Given the description of an element on the screen output the (x, y) to click on. 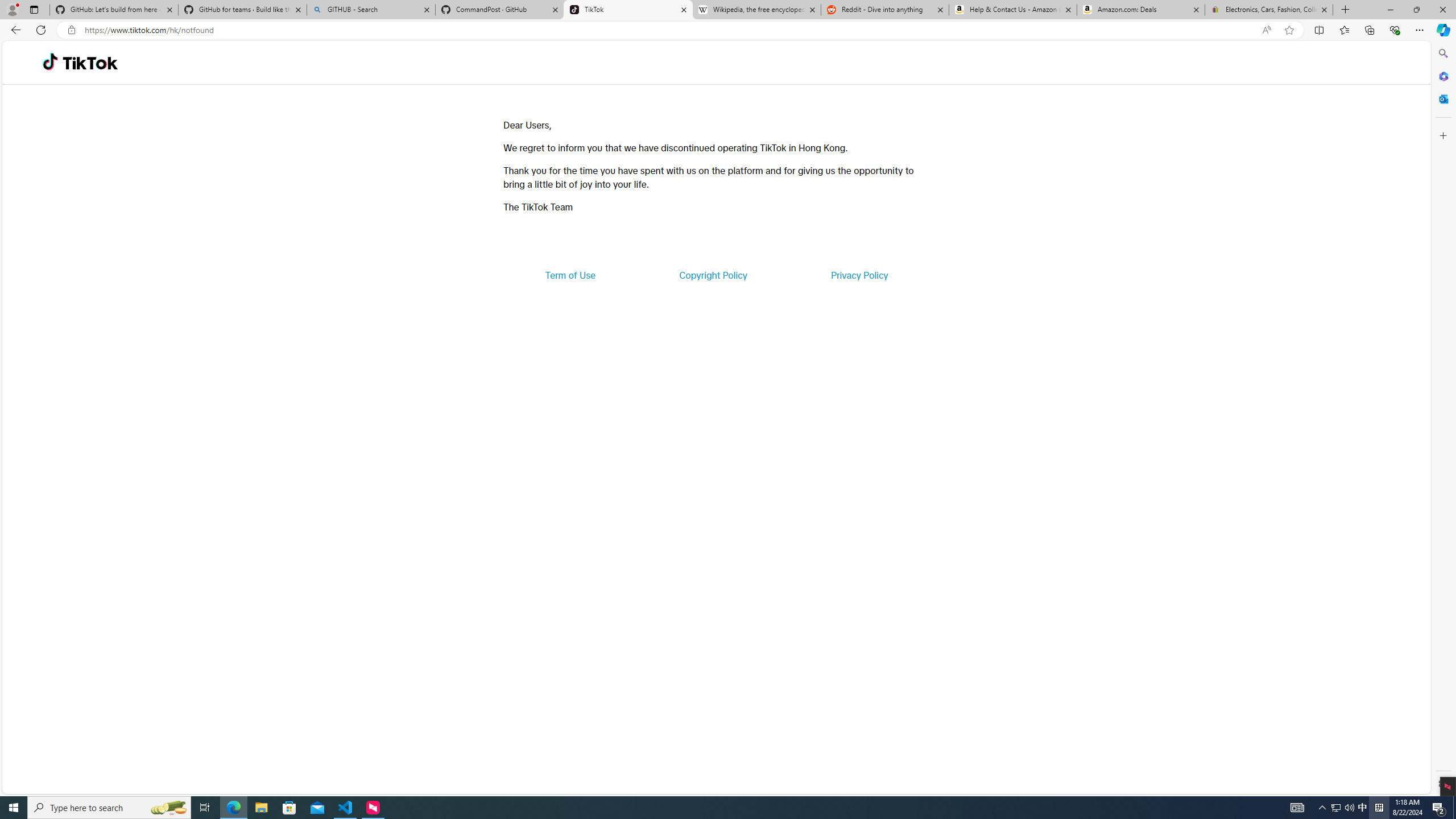
Copyright Policy (712, 274)
Wikipedia, the free encyclopedia (756, 9)
Amazon.com: Deals (1140, 9)
